Given the description of an element on the screen output the (x, y) to click on. 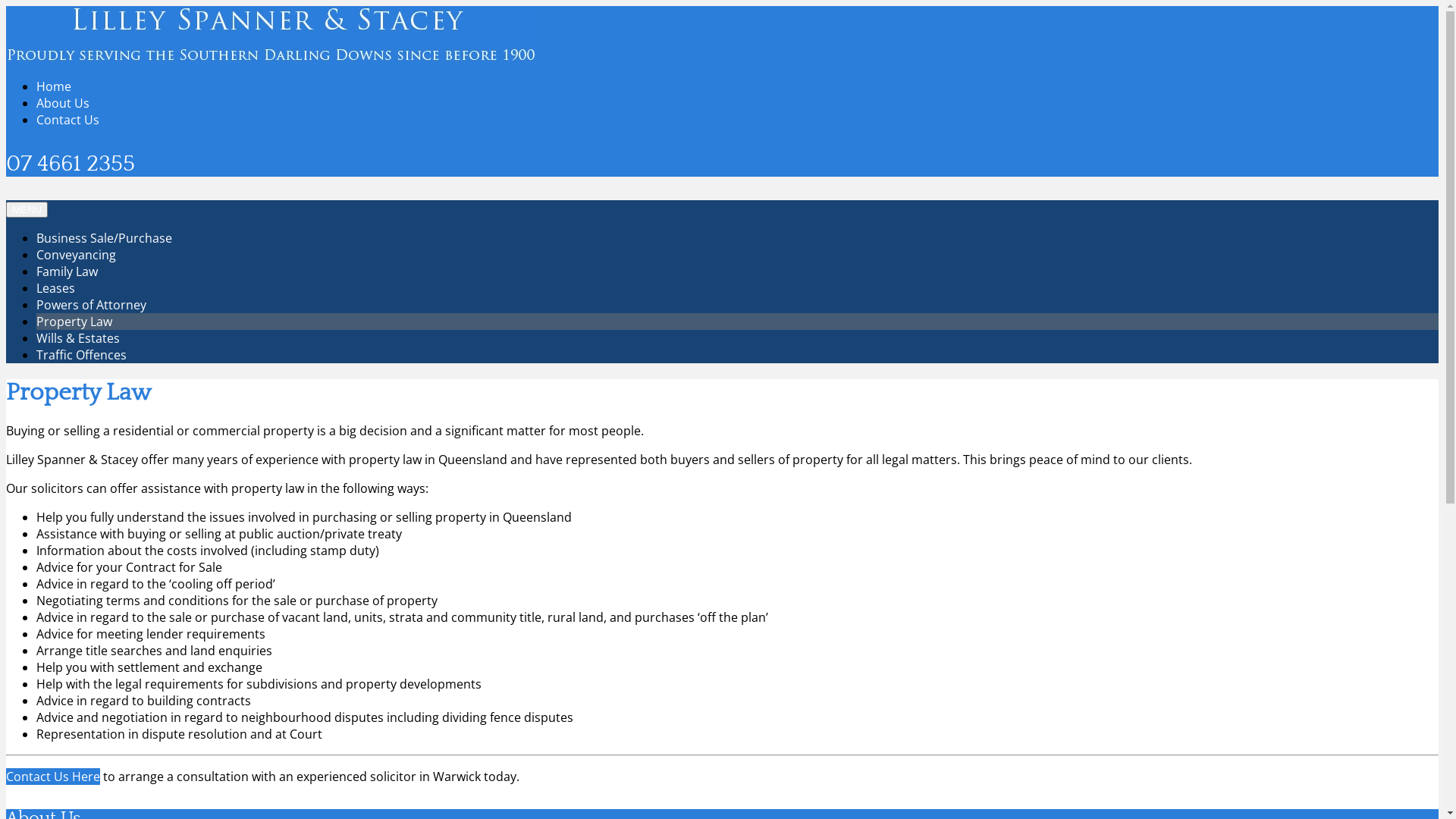
About Us Element type: text (62, 102)
Business Sale/Purchase Element type: text (104, 237)
Conveyancing Element type: text (76, 254)
Home Element type: text (53, 86)
Wills & Estates Element type: text (77, 337)
Property Law Element type: text (74, 321)
Family Law Element type: text (66, 271)
Contact Us Element type: text (67, 119)
Traffic Offences Element type: text (81, 354)
Powers of Attorney Element type: text (91, 304)
Contact Us Here Element type: text (53, 776)
Leases Element type: text (55, 287)
MENU Element type: text (26, 209)
07 4661 2355 Element type: text (70, 163)
